Given the description of an element on the screen output the (x, y) to click on. 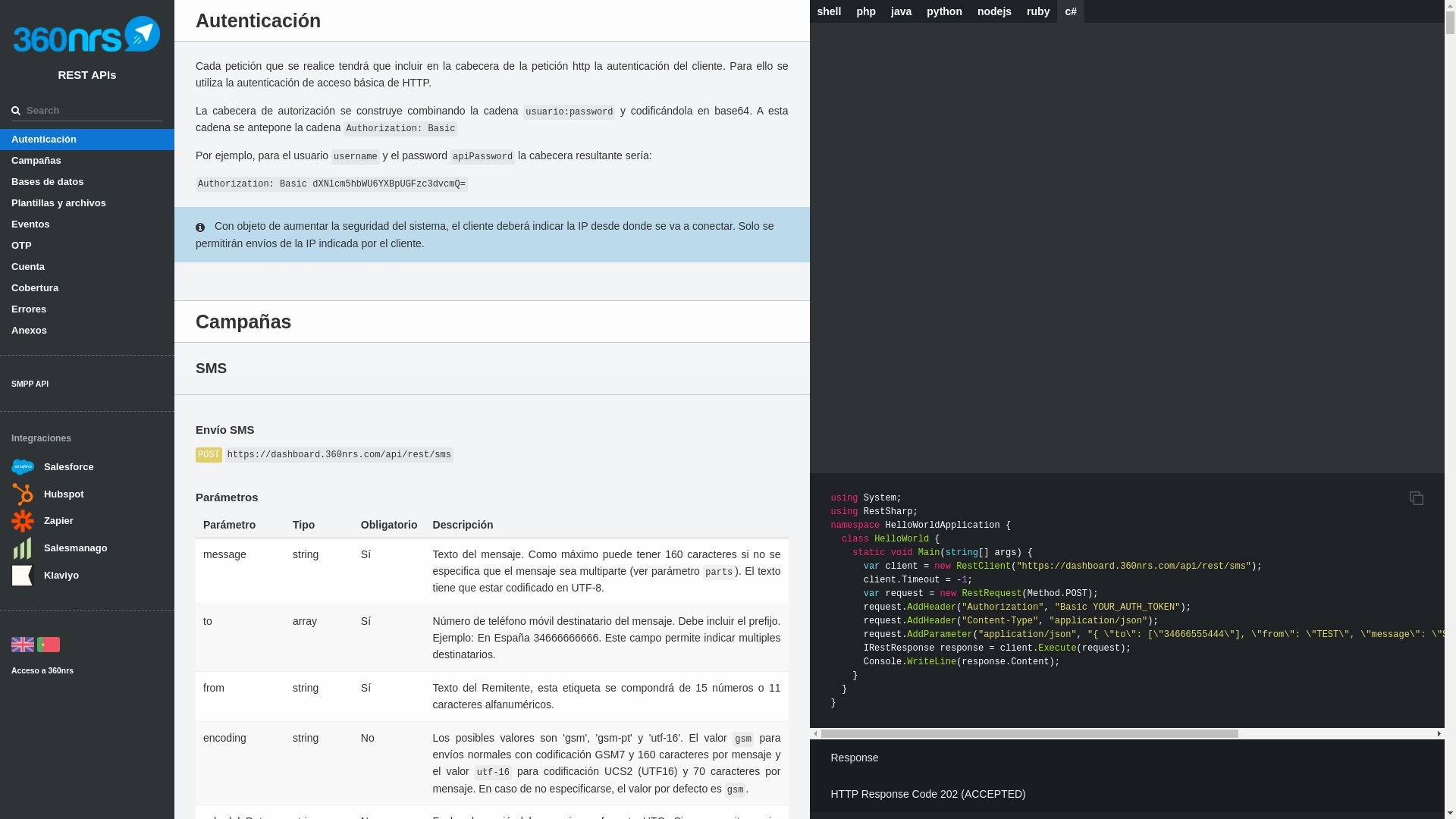
Salesmanago Element type: text (75, 547)
Plantillas y archivos Element type: text (87, 202)
ruby Element type: text (1038, 11)
nodejs Element type: text (994, 11)
c# Element type: text (1070, 11)
php Element type: text (865, 11)
Cobertura Element type: text (87, 287)
Hubspot Element type: text (63, 493)
Errores Element type: text (87, 309)
SMPP API Element type: text (29, 383)
java Element type: text (901, 11)
Klaviyo Element type: text (60, 574)
OTP Element type: text (87, 245)
Zapier Element type: text (58, 520)
Bases de datos Element type: text (87, 181)
shell Element type: text (829, 11)
python Element type: text (944, 11)
Cuenta Element type: text (87, 266)
Acceso a 360nrs Element type: text (42, 670)
Salesforce Element type: text (68, 466)
Eventos Element type: text (87, 224)
Anexos Element type: text (87, 330)
